Given the description of an element on the screen output the (x, y) to click on. 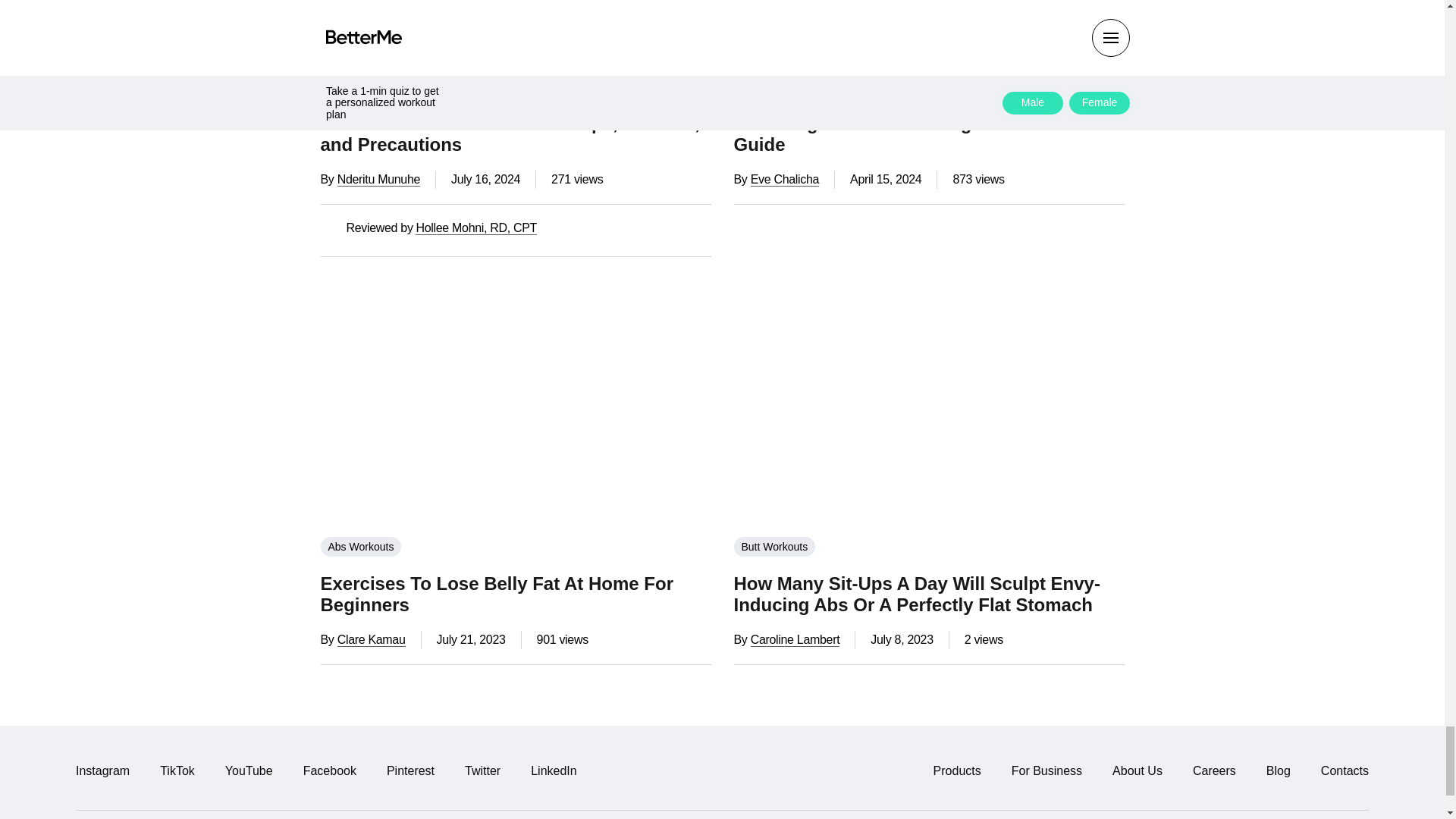
Stomach Vacuum Exercise: Steps, Benefits, and Precautions (515, 29)
Chair Yoga For Core Strength: The Ultimate Guide (928, 29)
Exercises To Lose Belly Fat At Home For Beginners (515, 403)
